Given the description of an element on the screen output the (x, y) to click on. 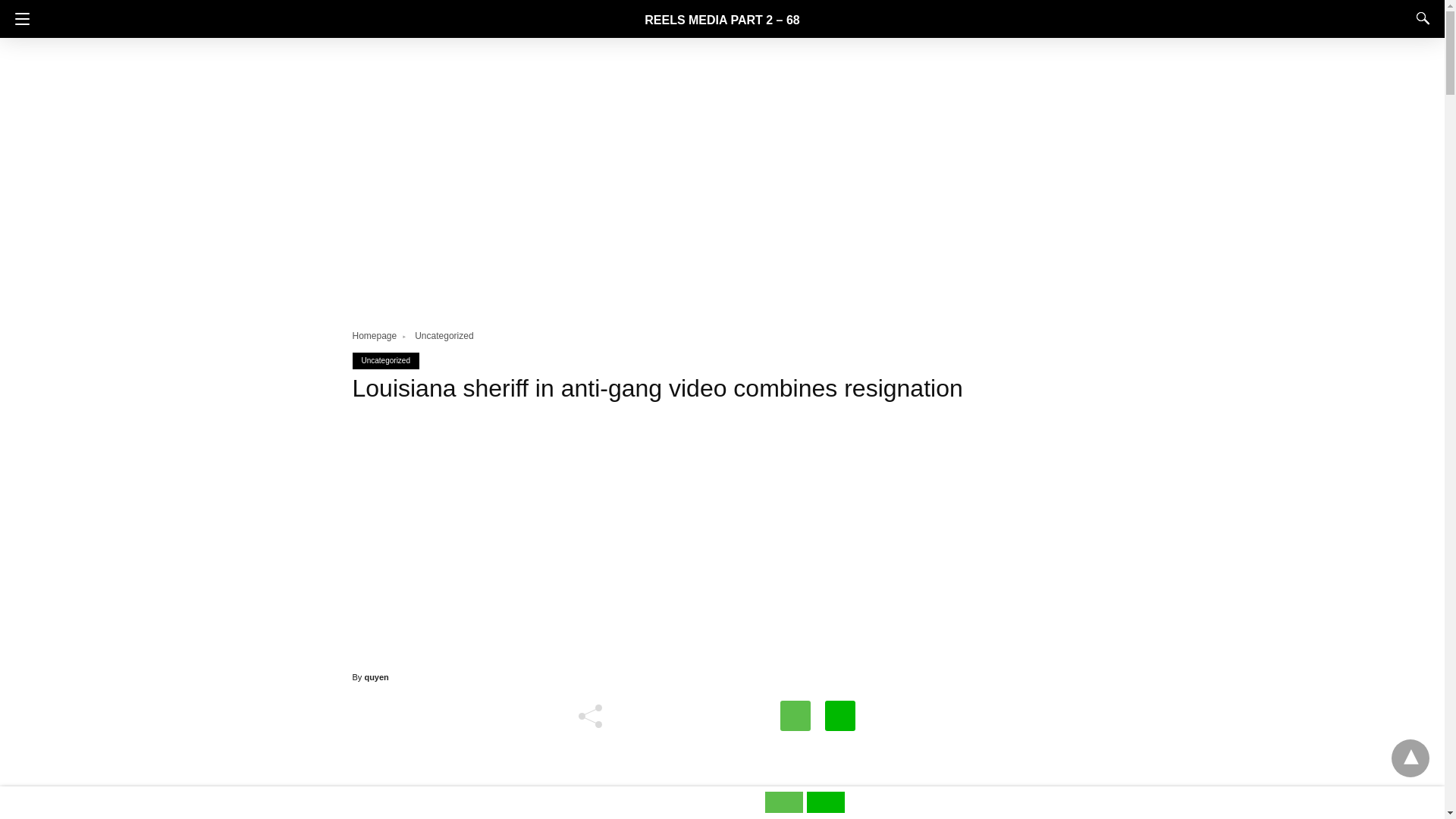
Uncategorized (443, 335)
quyen (376, 676)
line share (825, 808)
back to top (1410, 758)
Uncategorized (443, 335)
Uncategorized (384, 359)
Homepage (381, 335)
whatsapp share (785, 808)
Homepage (381, 335)
